Given the description of an element on the screen output the (x, y) to click on. 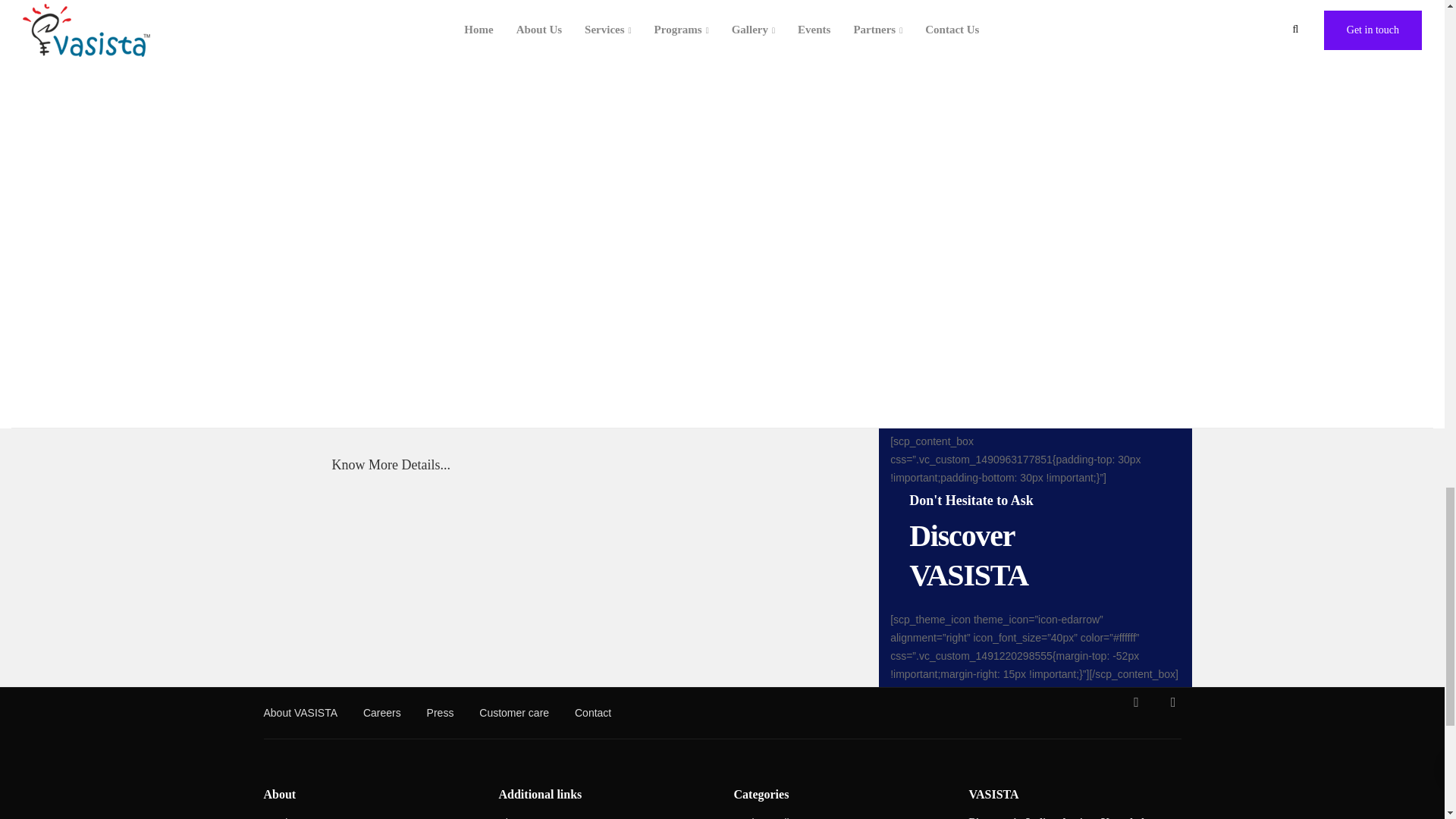
Customer care (513, 714)
Discover VASISTA (967, 555)
Press (440, 714)
Careers (381, 714)
Contact (593, 714)
Don't Hesitate to Ask (970, 500)
About VASISTA (300, 714)
